Given the description of an element on the screen output the (x, y) to click on. 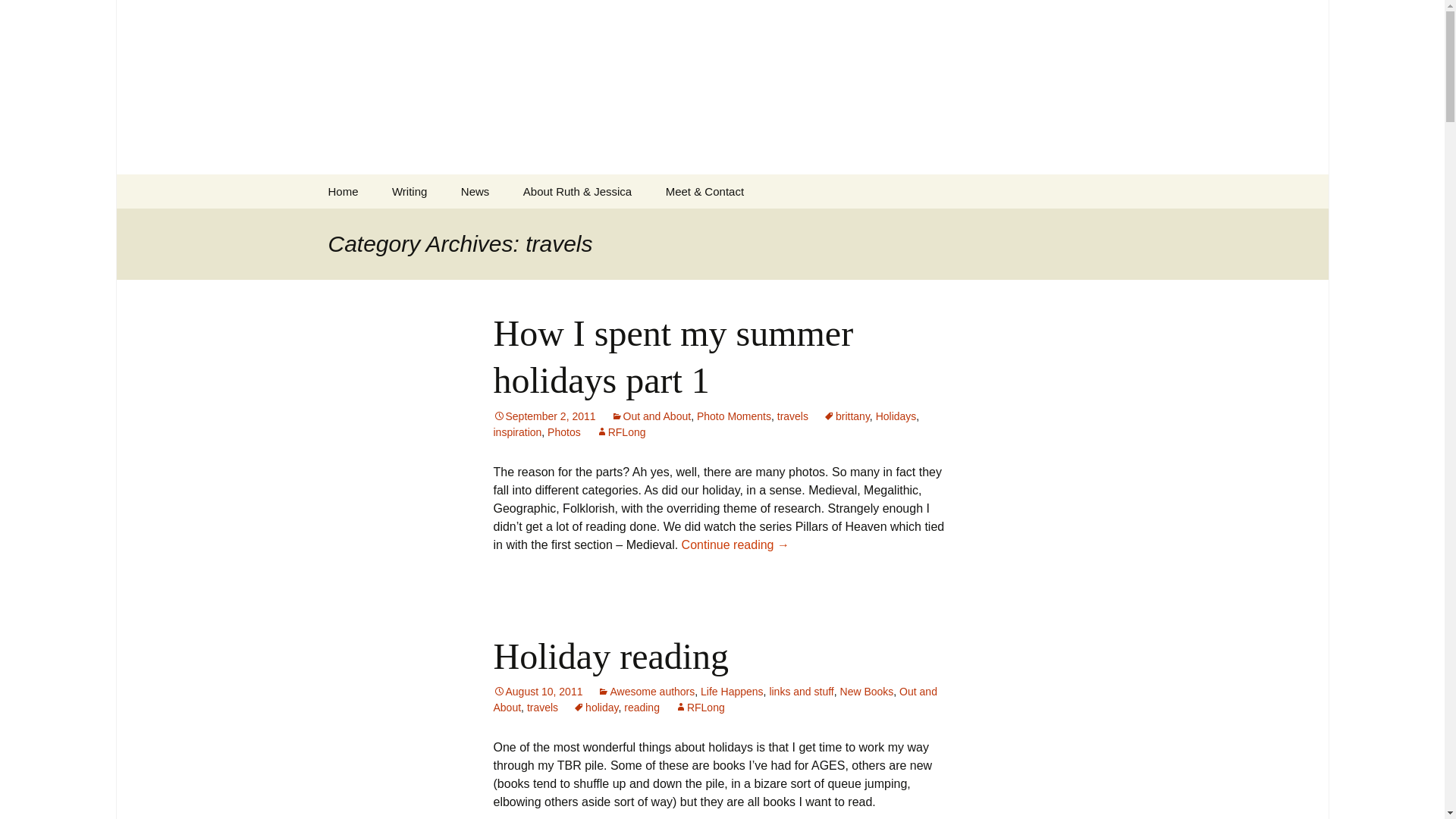
Holidays (896, 416)
Awesome authors (645, 691)
travels (792, 416)
travels (542, 707)
Photo Moments (734, 416)
Holiday reading (611, 656)
Search (18, 15)
Permalink to Holiday reading (537, 691)
View all posts by RFLong (620, 431)
Jessica Thorne (452, 225)
September 2, 2011 (544, 416)
Life Happens (731, 691)
Home (342, 191)
View all posts by RFLong (700, 707)
links and stuff (800, 691)
